Given the description of an element on the screen output the (x, y) to click on. 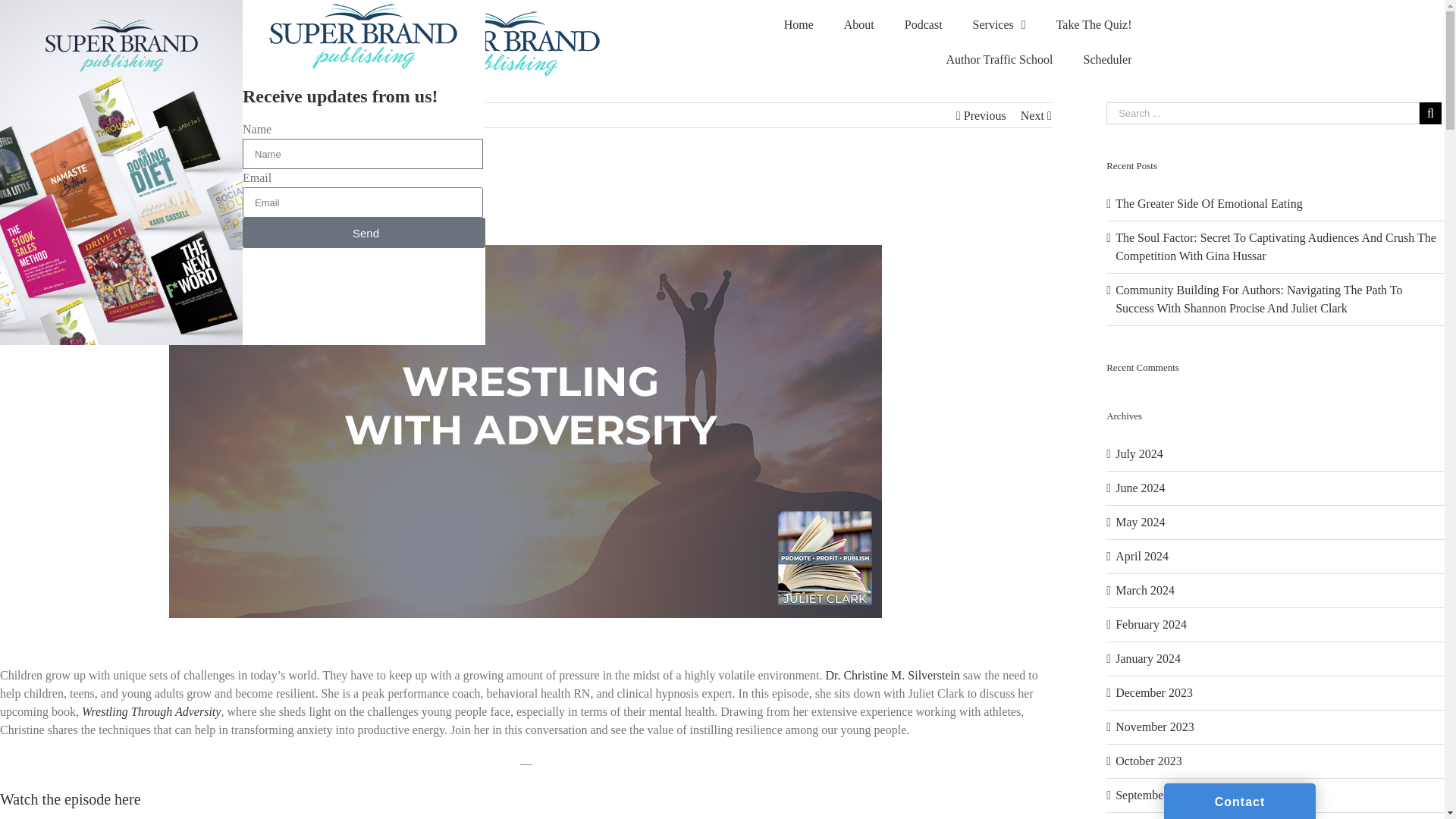
Services (999, 24)
Previous (984, 115)
Scheduler (1107, 59)
Home (798, 24)
About (858, 24)
Author Traffic School (998, 59)
Next (1031, 115)
Wrestling Through Adversity (151, 711)
Podcast (923, 24)
Take The Quiz! (1094, 24)
Dr. Christine M. Silverstein (892, 675)
